Given the description of an element on the screen output the (x, y) to click on. 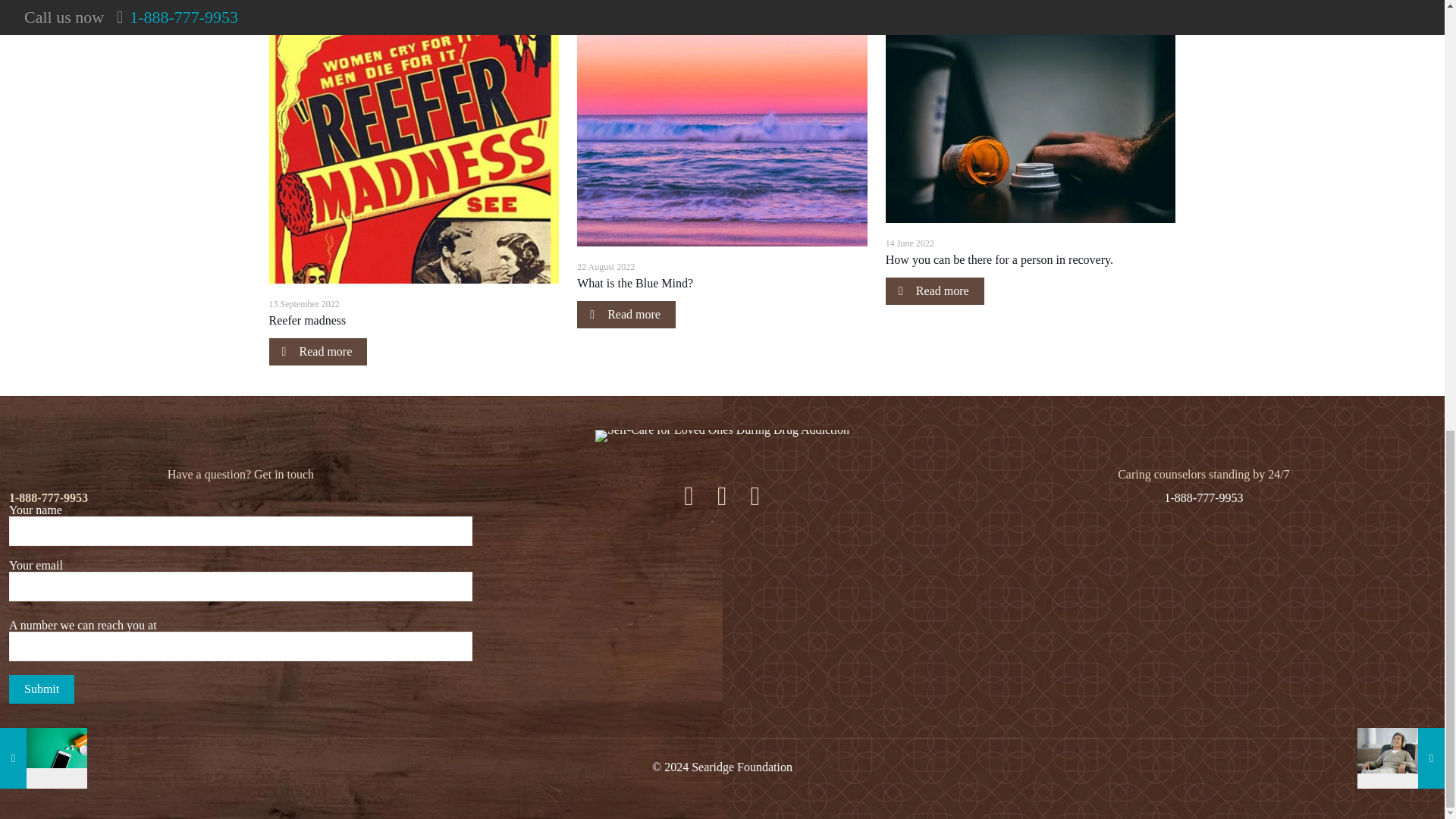
Submit (41, 688)
